Given the description of an element on the screen output the (x, y) to click on. 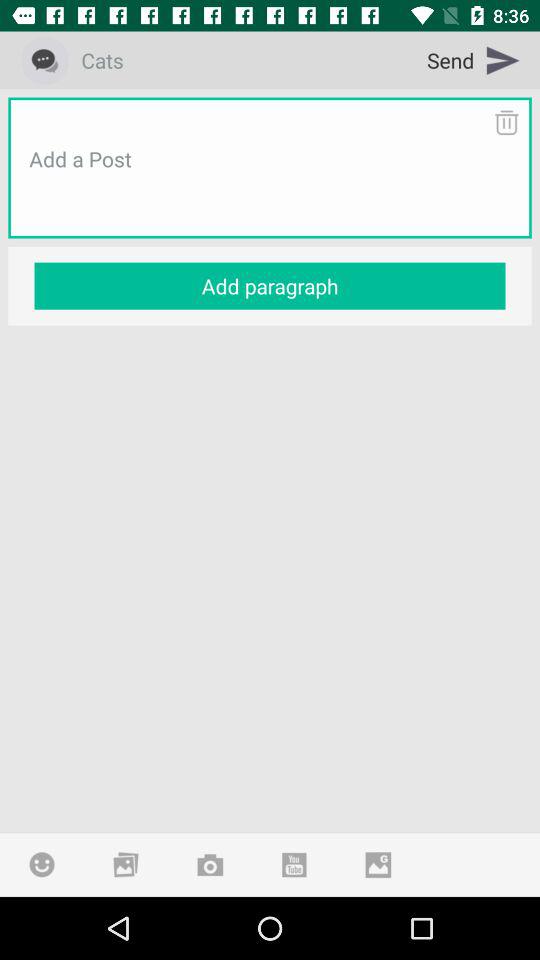
add post (269, 183)
